Given the description of an element on the screen output the (x, y) to click on. 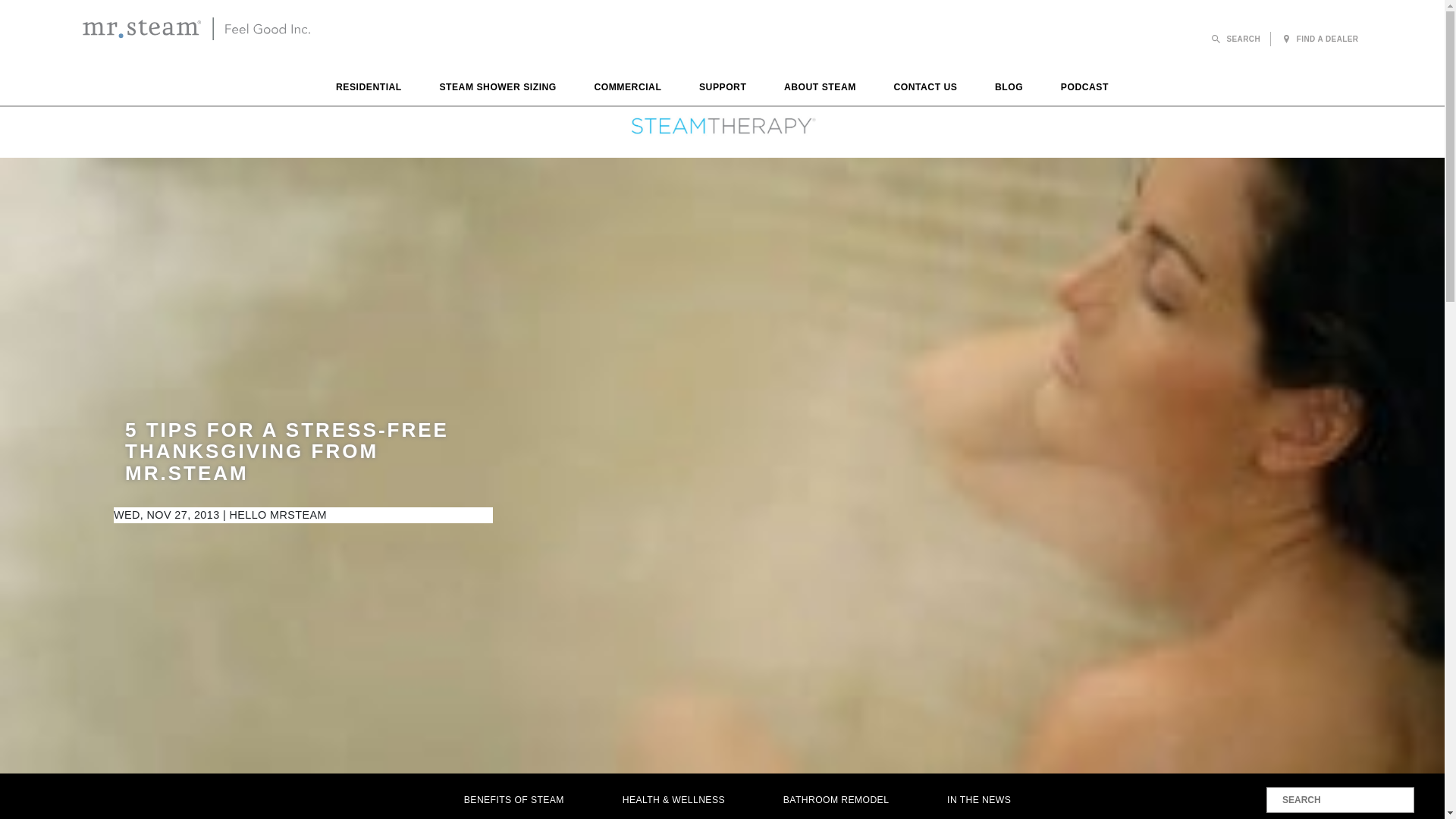
STEAM SHOWER SIZING (497, 89)
RESIDENTIAL (368, 89)
BENEFITS OF STEAM (512, 800)
CONTACT US (925, 89)
IN THE NEWS (979, 800)
BLOG (1008, 89)
BATHROOM REMODEL (835, 800)
SUPPORT (722, 89)
ABOUT STEAM (820, 89)
PODCAST (1084, 89)
SEARCH (1236, 39)
COMMERCIAL (628, 89)
FIND A DEALER (1320, 39)
